Given the description of an element on the screen output the (x, y) to click on. 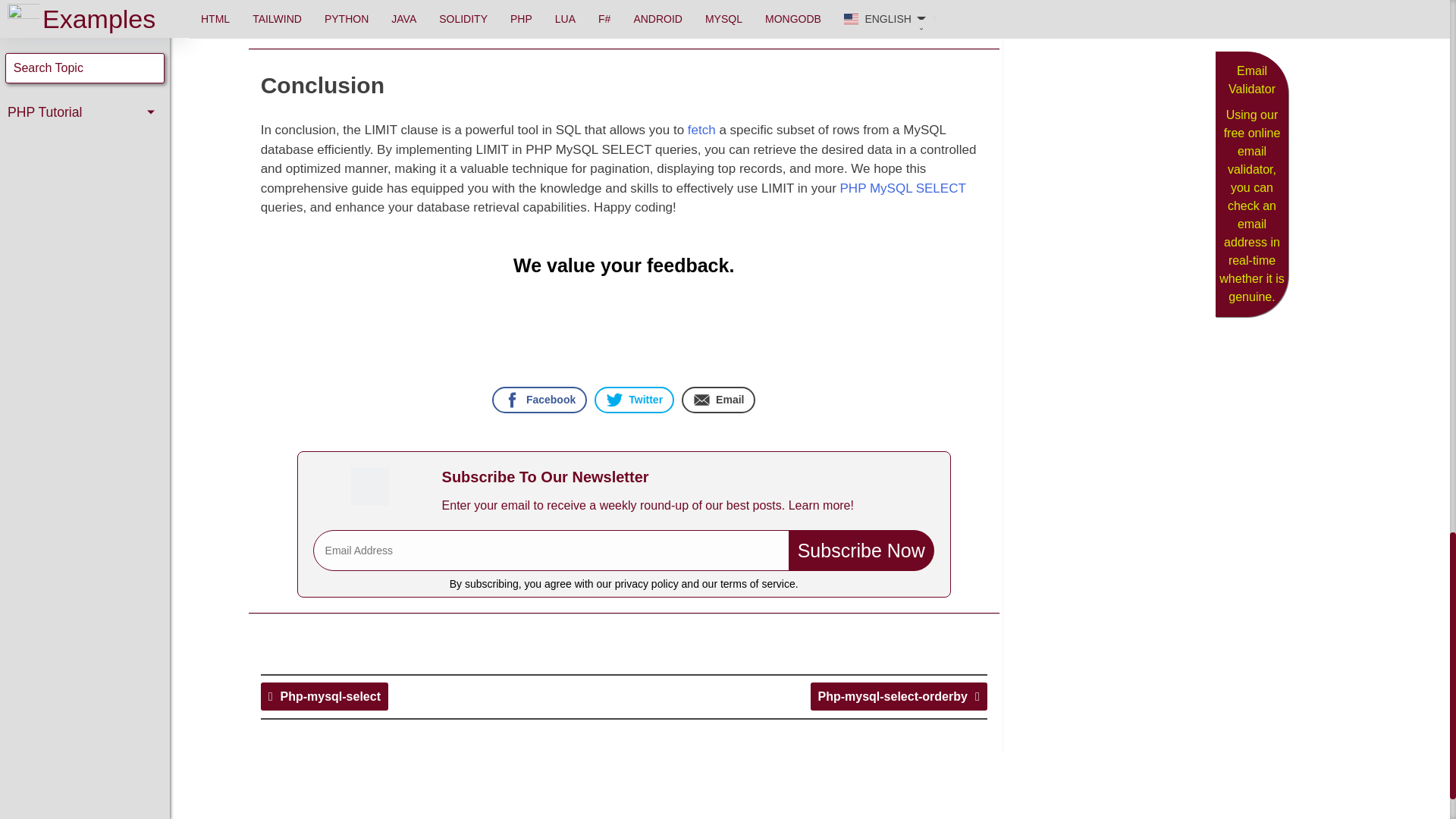
Subscribe Now (860, 550)
